Given the description of an element on the screen output the (x, y) to click on. 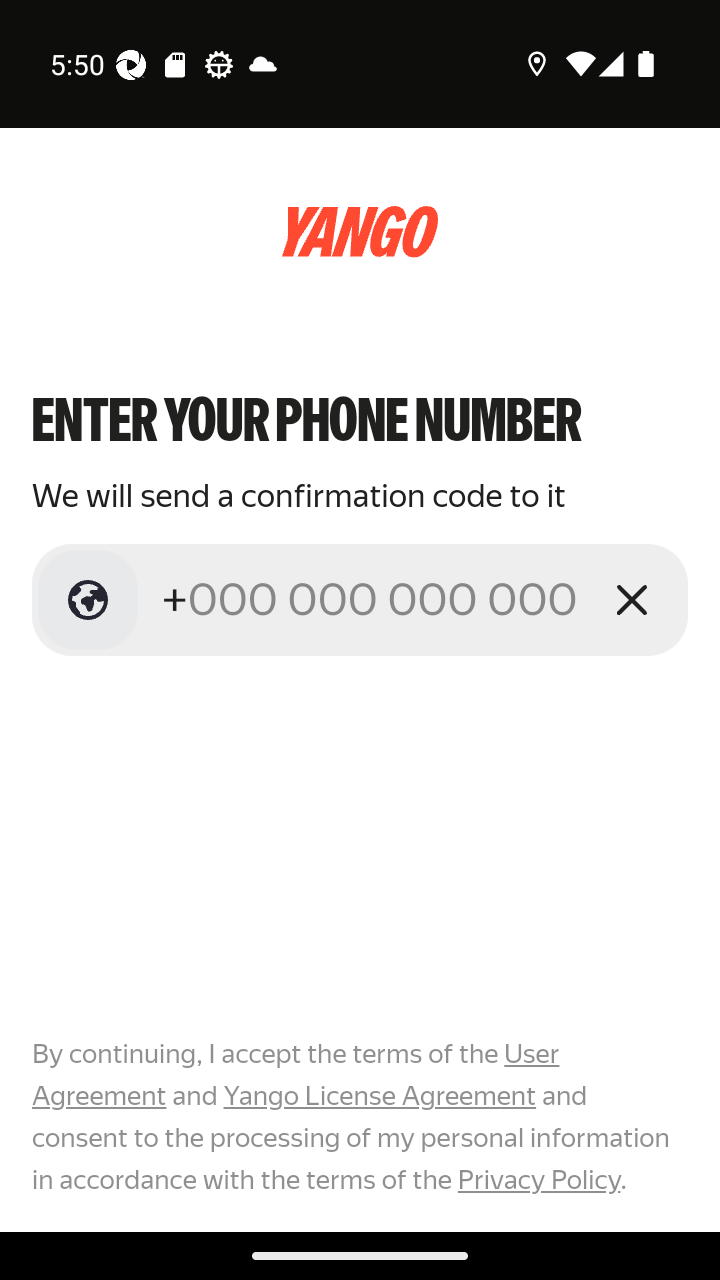
logo (359, 231)
  (88, 600)
+ (372, 599)
User Agreement (295, 1075)
Yango License Agreement (379, 1096)
Privacy Policy (538, 1179)
